Given the description of an element on the screen output the (x, y) to click on. 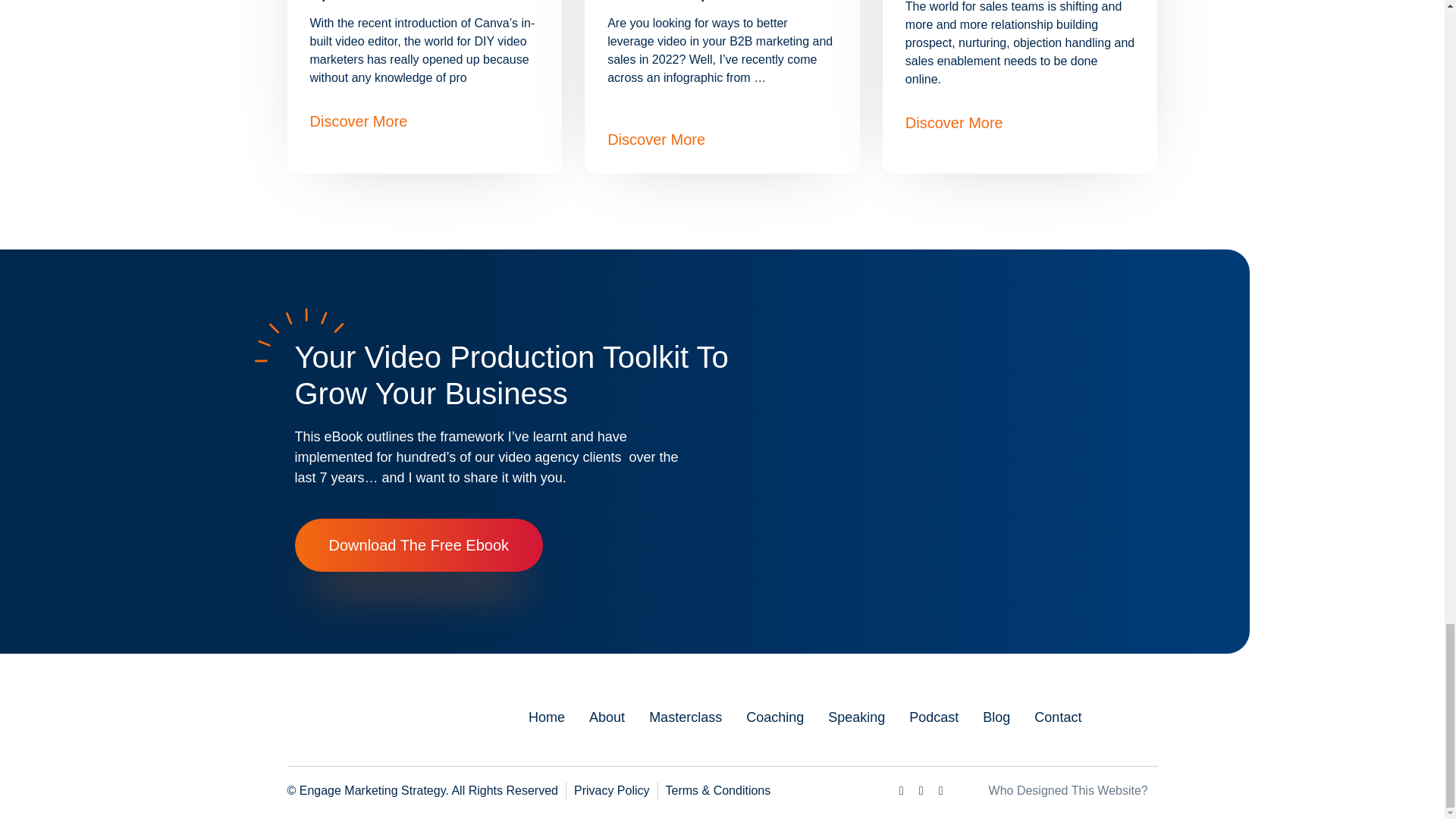
Speaking (856, 717)
Download The Free Ebook (418, 544)
About (606, 717)
Podcast (933, 717)
Discover More (357, 121)
Home (546, 717)
Your B2B Video Marketing and Sales Roadmap for 2022 (706, 1)
Coaching (774, 717)
Masterclass (685, 717)
Discover More (655, 139)
